Given the description of an element on the screen output the (x, y) to click on. 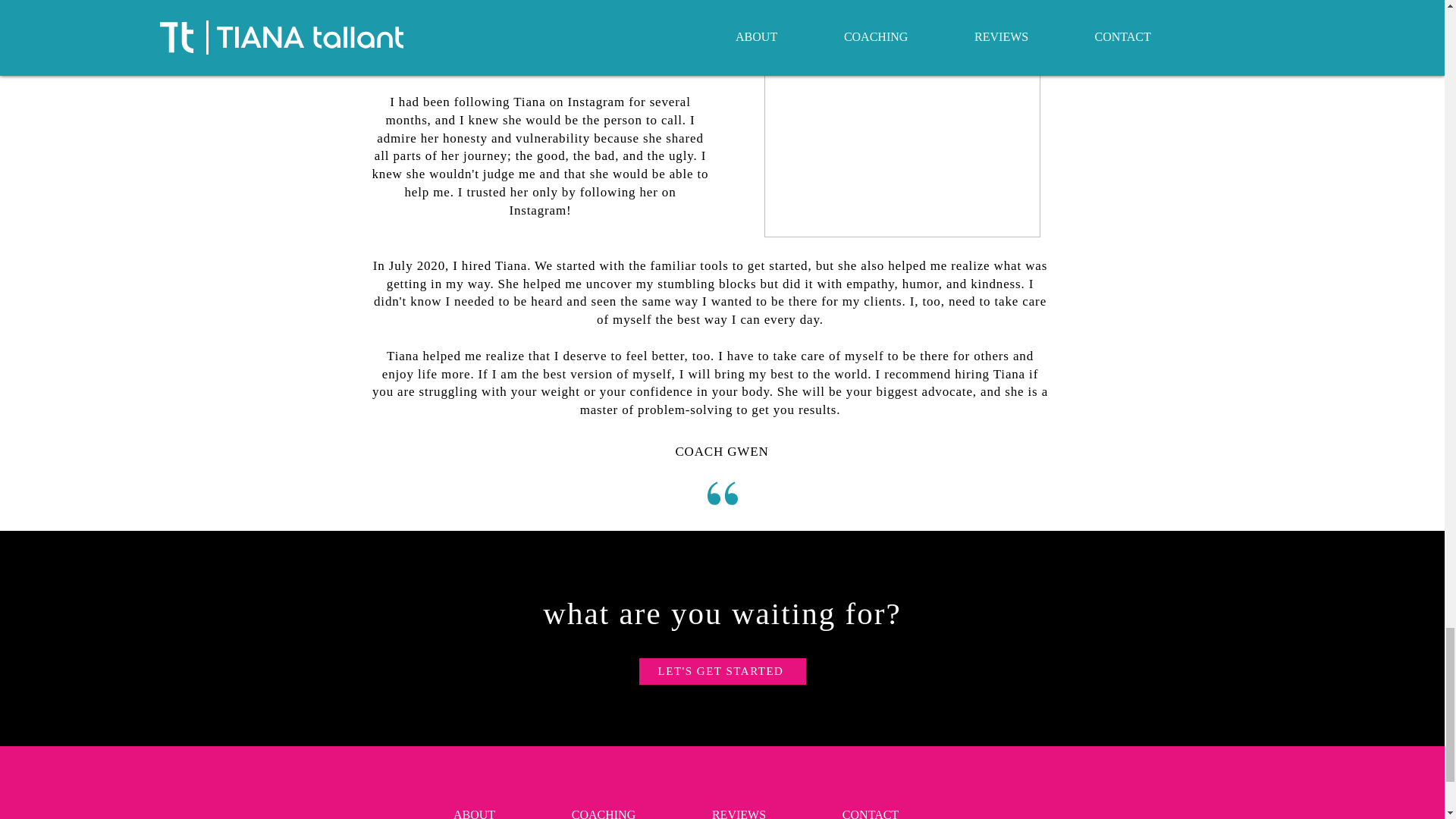
REVIEWS (737, 807)
image5.jpg (901, 119)
COACHING (604, 807)
CONTACT (869, 807)
LET'S GET STARTED (722, 671)
ABOUT (474, 807)
